Given the description of an element on the screen output the (x, y) to click on. 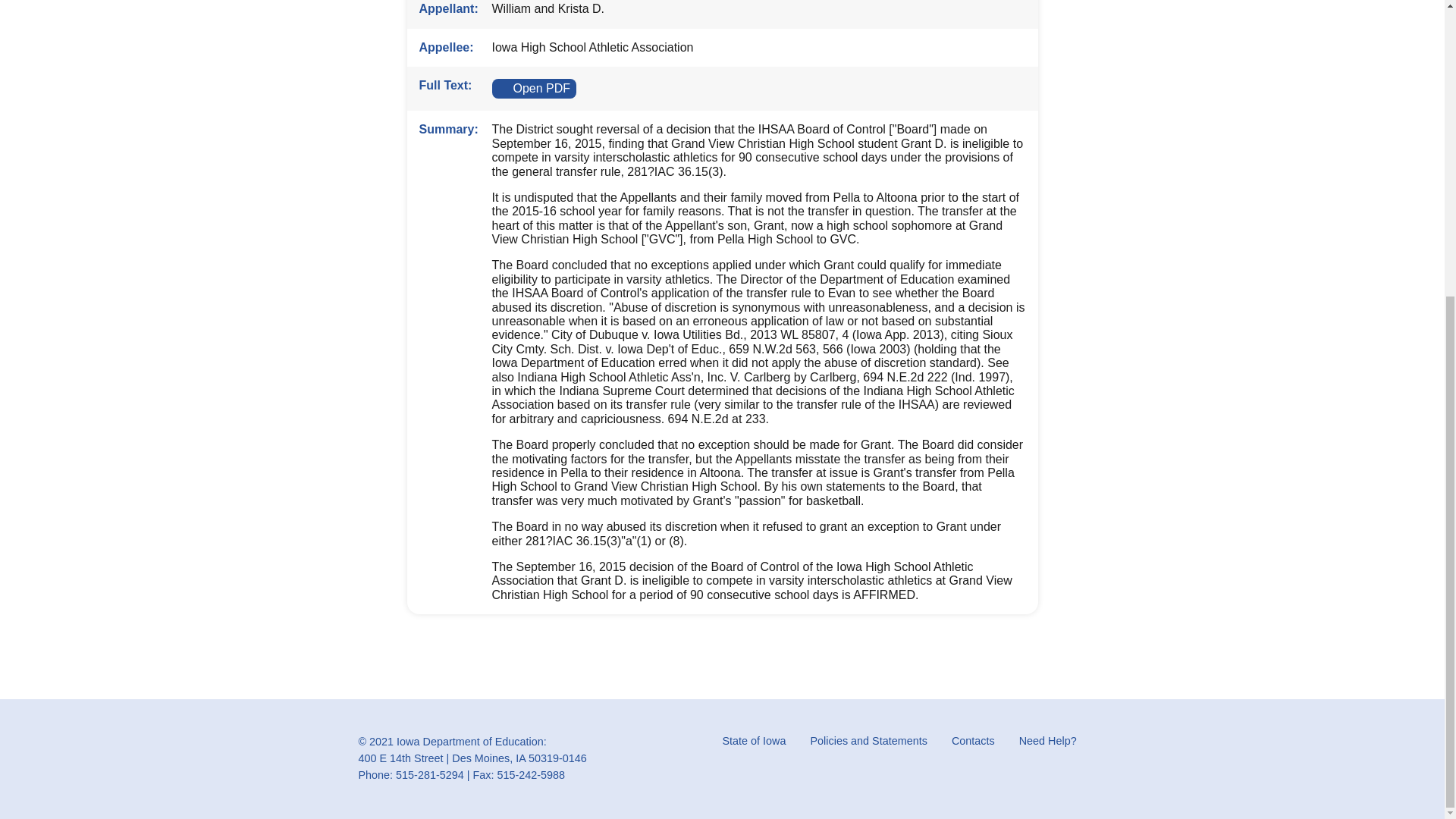
Policies and Statements (867, 741)
Contacts (973, 741)
Open PDF (534, 88)
Need Help? (1048, 741)
State of Iowa (754, 741)
